Given the description of an element on the screen output the (x, y) to click on. 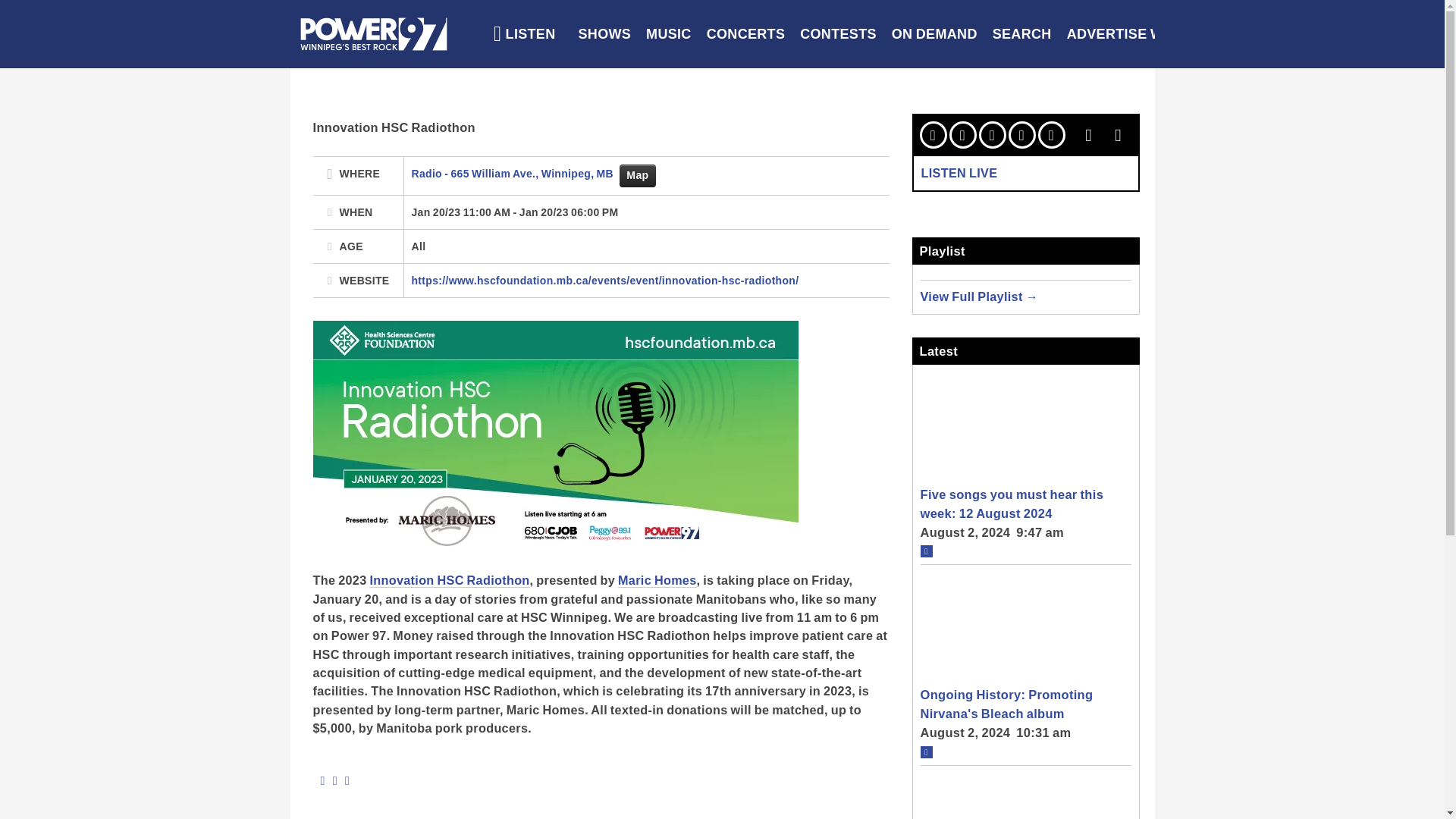
CONTESTS (837, 33)
LISTEN (524, 33)
MUSIC (668, 33)
CONCERTS (745, 33)
Radio - 665 William Ave., Winnipeg, MB (512, 173)
Map (637, 175)
ADVERTISE WITH US (1138, 33)
ON DEMAND (934, 33)
Innovation HSC Radiothon (449, 580)
SEARCH (1022, 33)
